Given the description of an element on the screen output the (x, y) to click on. 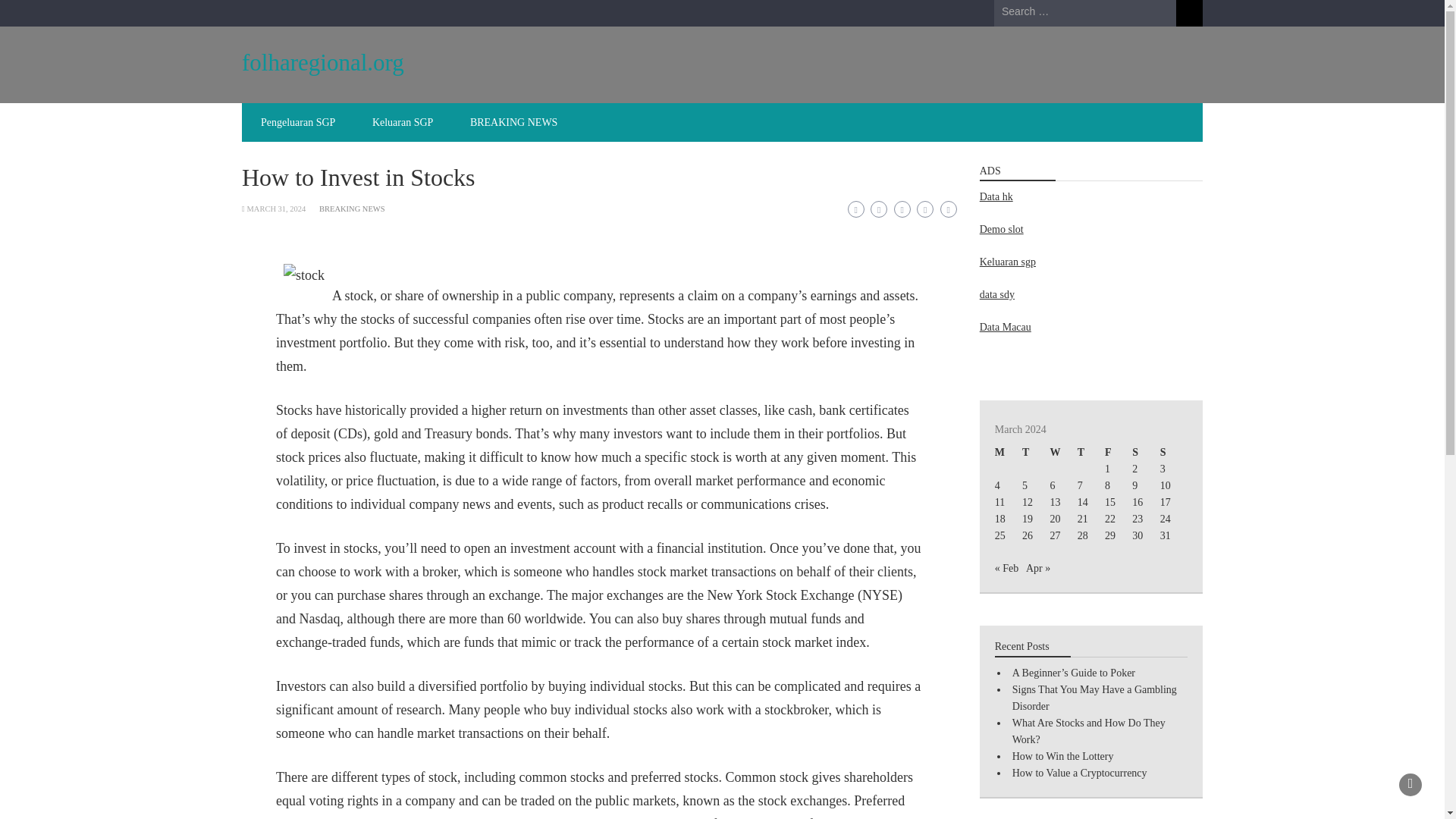
Demo slot (1001, 229)
13 (1054, 501)
Sunday (1174, 452)
3 (1163, 469)
Tuesday (1035, 452)
12 (1027, 501)
Data Macau (1004, 326)
11 (999, 501)
5 (1024, 485)
Keluaran sgp (1007, 261)
Data hk (996, 196)
Search (1189, 13)
Search (1189, 13)
4 (997, 485)
MARCH 31, 2024 (275, 208)
